Given the description of an element on the screen output the (x, y) to click on. 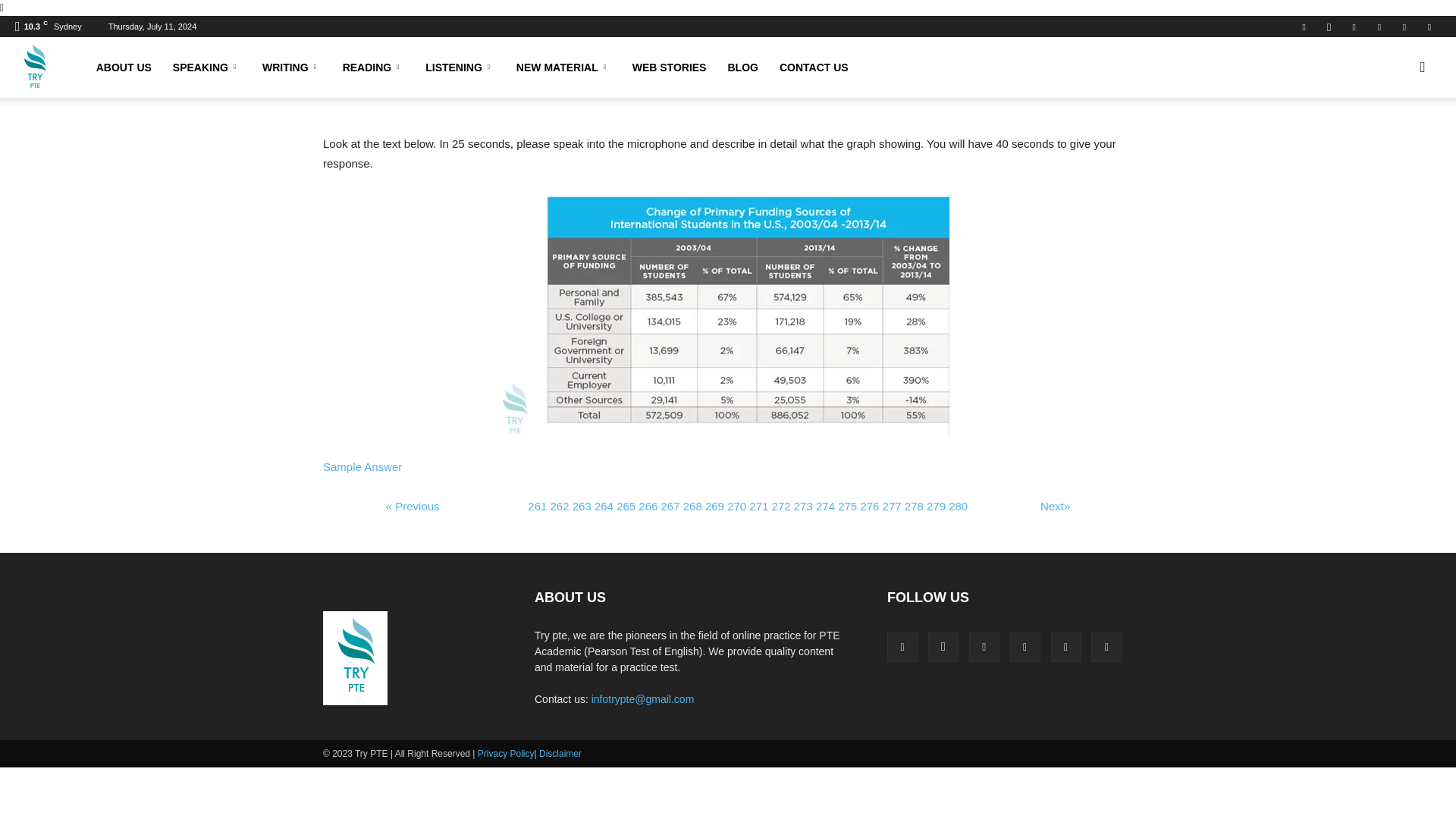
Instagram (943, 646)
Twitter (1404, 25)
Facebook (1304, 25)
Linkedin (983, 646)
Instagram (1328, 25)
Telegram (1379, 25)
Facebook (901, 646)
Linkedin (1353, 25)
Youtube (1429, 25)
